Given the description of an element on the screen output the (x, y) to click on. 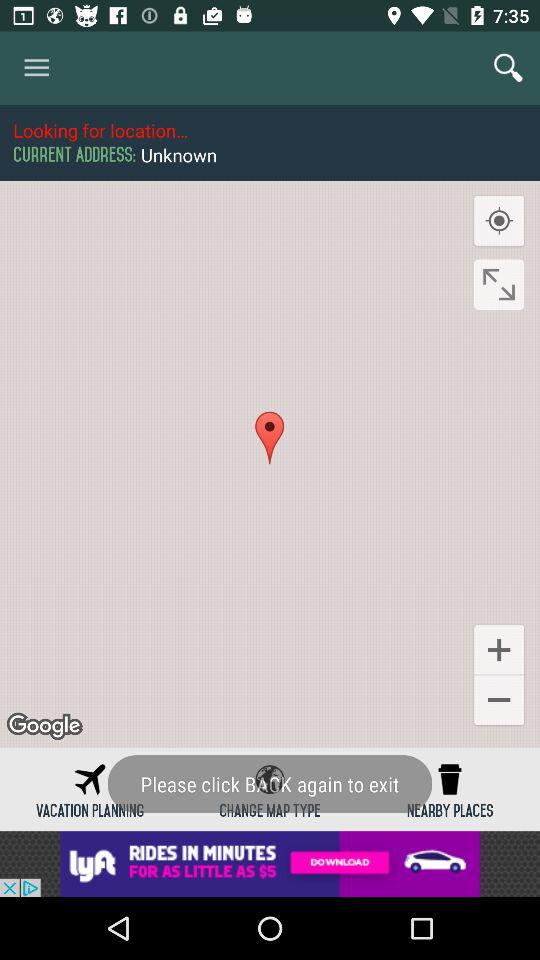
go to search (508, 67)
